Given the description of an element on the screen output the (x, y) to click on. 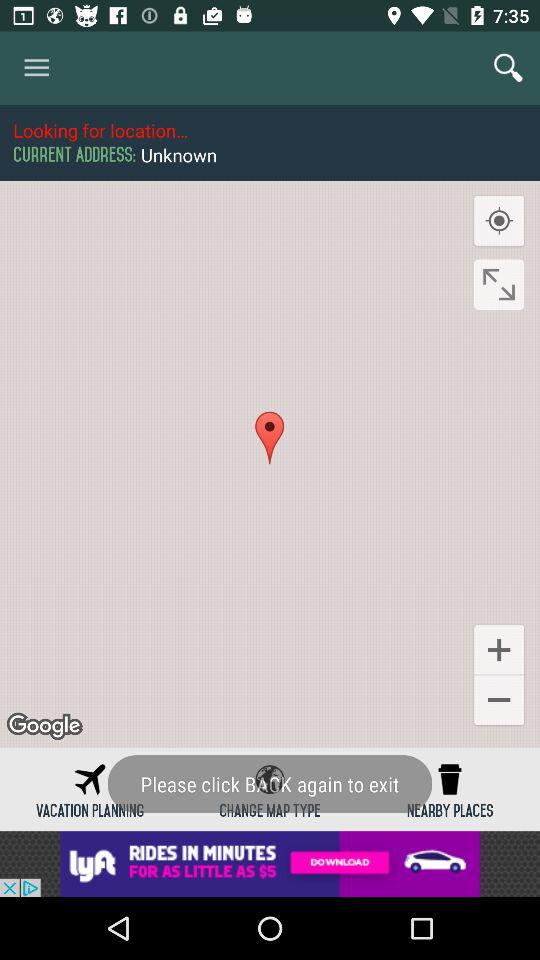
go to search (508, 67)
